Given the description of an element on the screen output the (x, y) to click on. 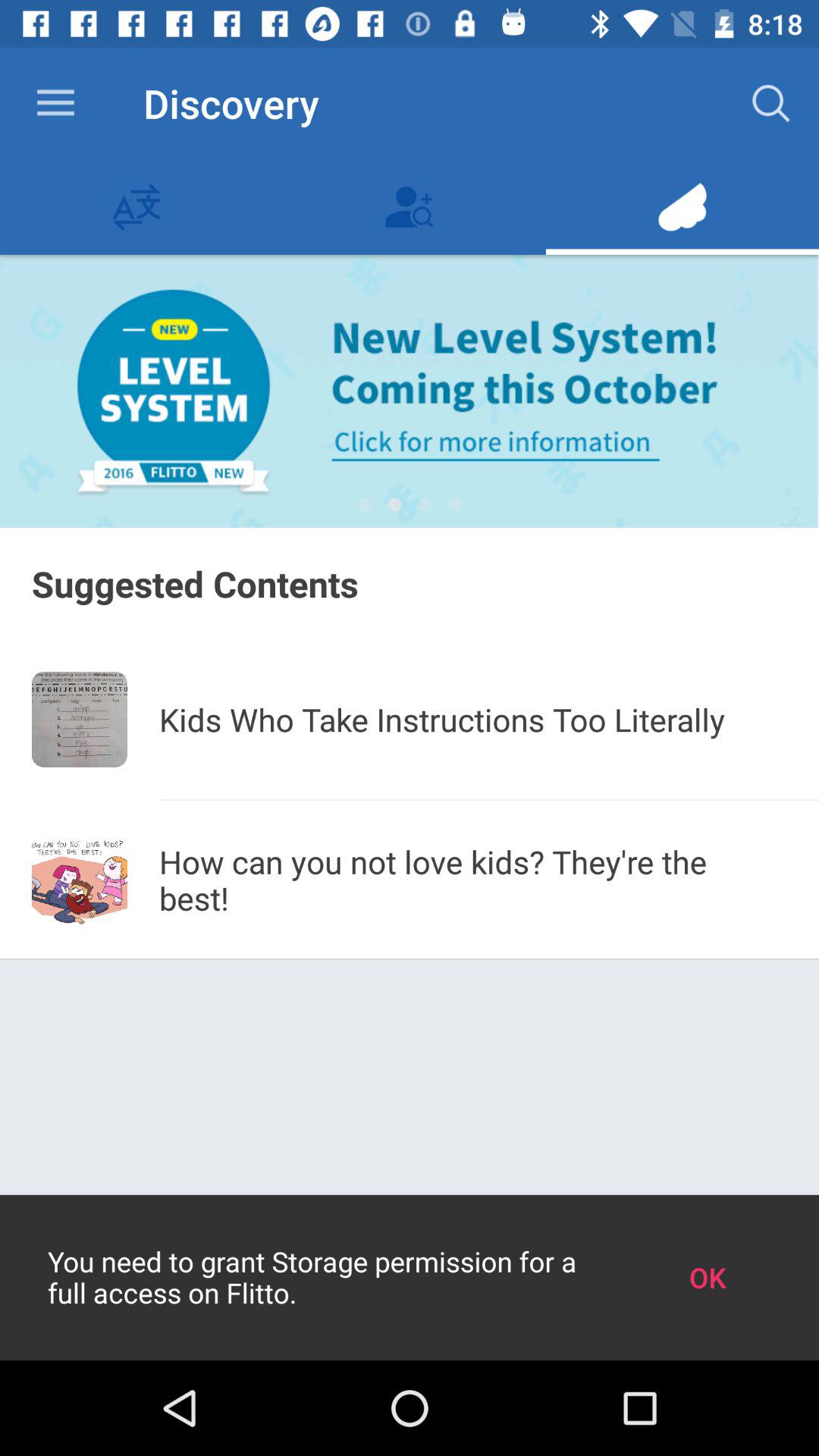
swipe to how can you item (473, 880)
